Given the description of an element on the screen output the (x, y) to click on. 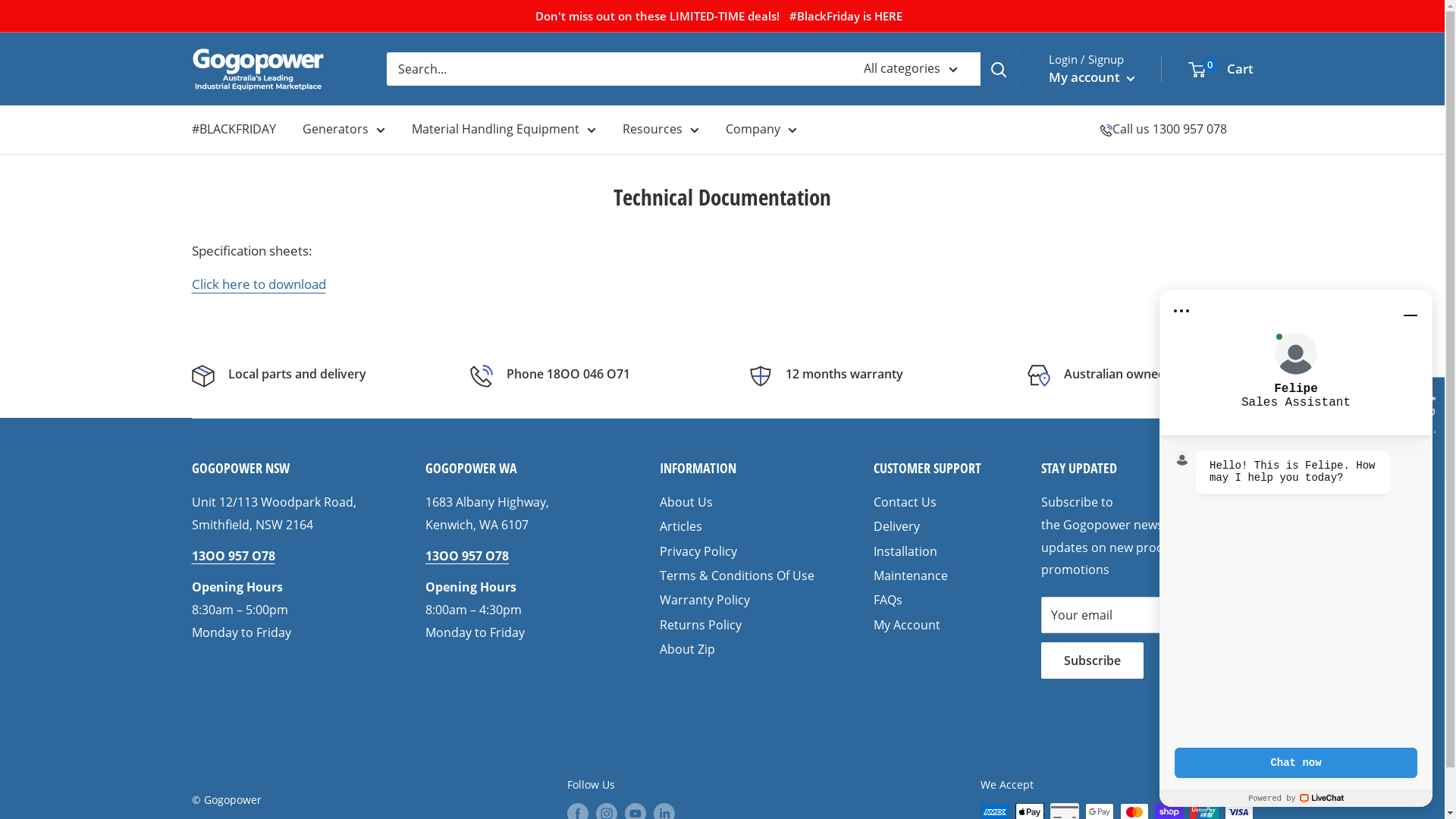
Subscribe Element type: text (1091, 660)
Material Handling Equipment Element type: text (503, 129)
FAQs Element type: text (930, 599)
Terms & Conditions Of Use Element type: text (740, 575)
Returns Policy Element type: text (740, 624)
Generators Element type: text (342, 129)
My account Element type: text (1091, 77)
Contact Us Element type: text (930, 501)
Privacy Policy Element type: text (740, 551)
Company Element type: text (760, 129)
13OO 957 O78 Element type: text (232, 555)
#BLACKFRIDAY Element type: text (233, 129)
About Us Element type: text (740, 501)
Warranty Policy Element type: text (740, 599)
Delivery Element type: text (930, 526)
Maintenance Element type: text (930, 575)
INFORMATION Element type: text (740, 468)
About Zip Element type: text (740, 649)
0
Cart Element type: text (1219, 68)
Installation Element type: text (930, 551)
GOGOPOWER NSW Element type: text (281, 468)
CUSTOMER SUPPORT Element type: text (930, 468)
Click here to download Element type: text (258, 283)
Articles Element type: text (740, 526)
GOGOPOWER WA Element type: text (515, 468)
Call us 1300 957 078 Element type: text (1168, 128)
Resources Element type: text (659, 129)
My Account Element type: text (930, 624)
13OO 957 O78 Element type: text (466, 555)
